Given the description of an element on the screen output the (x, y) to click on. 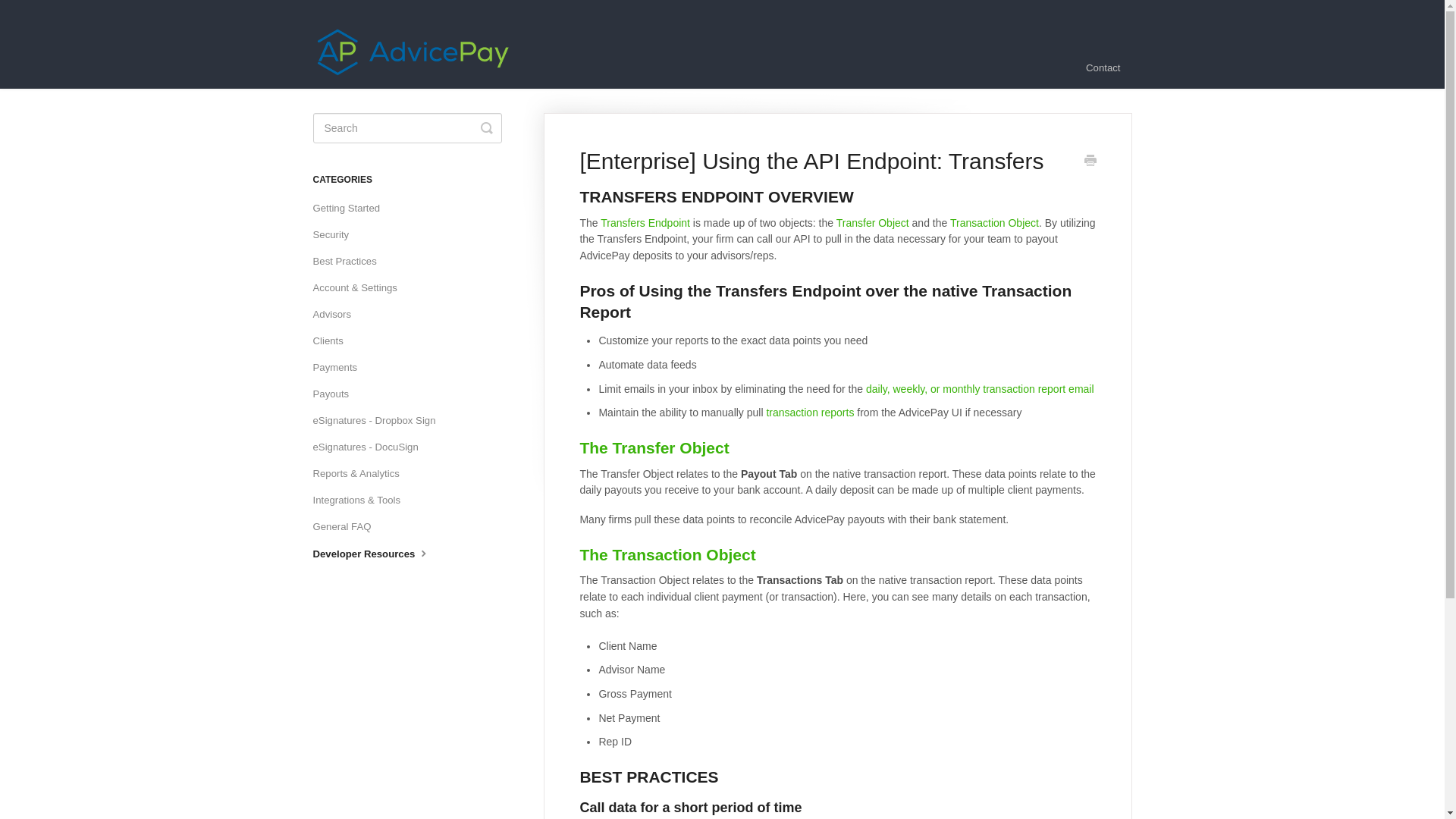
Transaction Object (994, 223)
General FAQ (347, 526)
daily, weekly, or monthly transaction report email (980, 388)
Getting Started (352, 208)
Payments (340, 367)
The Transaction Object (667, 554)
Transfer Object (871, 223)
The Transfer Object (654, 447)
Clients (333, 340)
Developer Resources (377, 553)
